Given the description of an element on the screen output the (x, y) to click on. 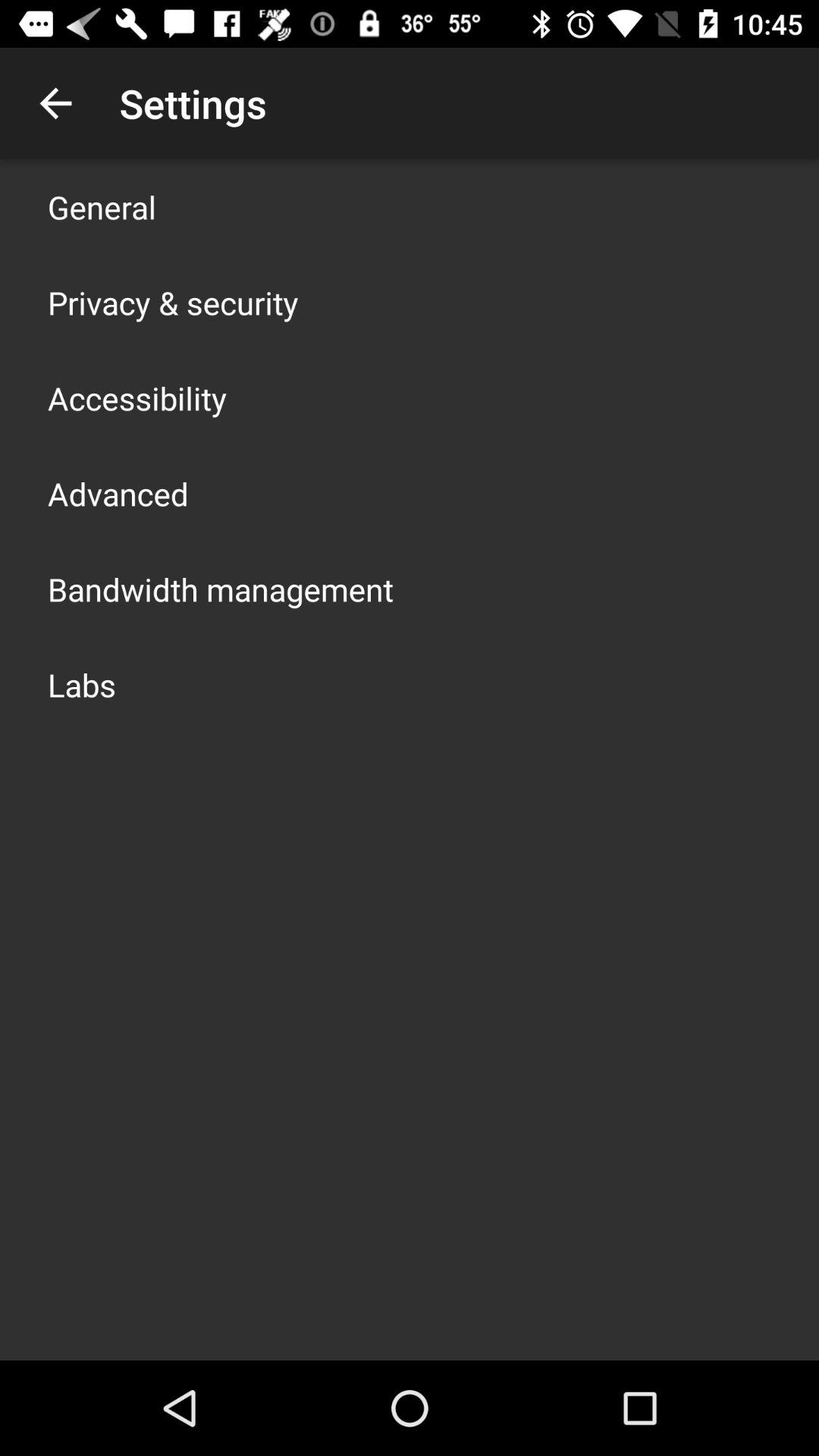
turn off privacy & security icon (172, 302)
